Given the description of an element on the screen output the (x, y) to click on. 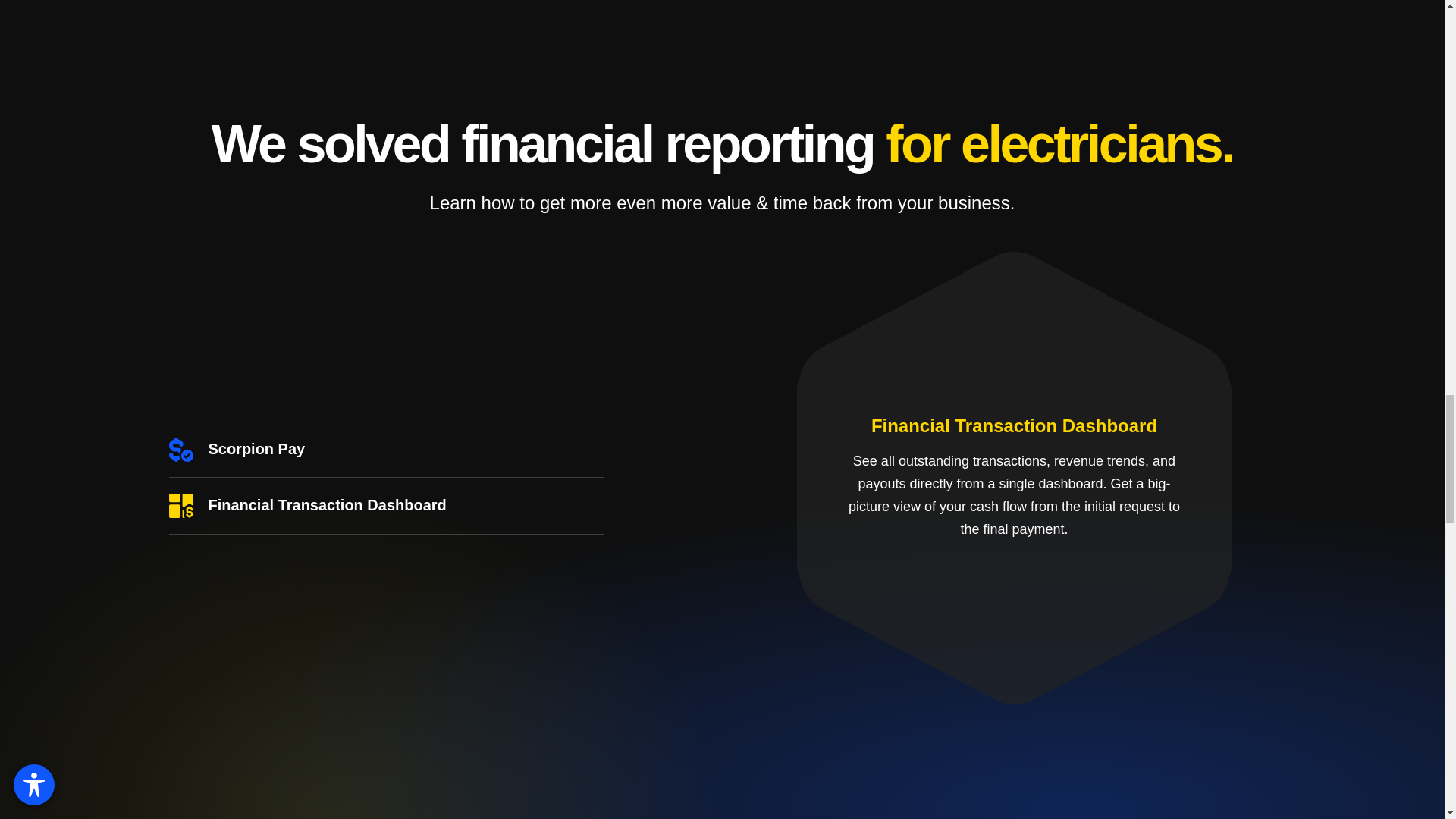
Scorpion Pay (386, 449)
Financial Transaction Dashboard (386, 505)
